Given the description of an element on the screen output the (x, y) to click on. 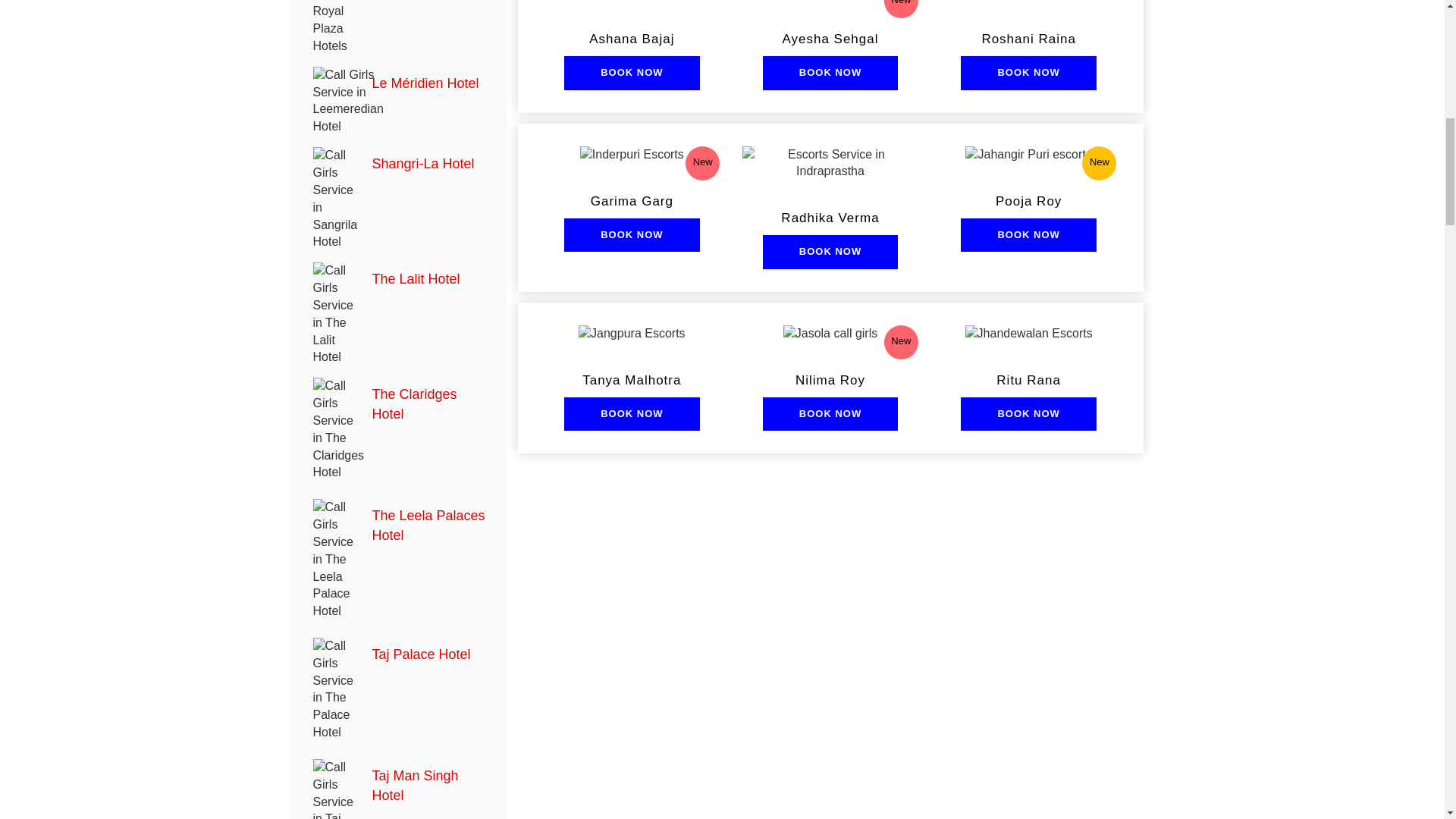
Book Now (1028, 73)
Book Now (1028, 414)
Book Now (830, 414)
Book Now (1028, 235)
Book Now (631, 414)
Book Now (631, 235)
Book Now (631, 73)
Book Now (830, 73)
Book Now (830, 252)
